Given the description of an element on the screen output the (x, y) to click on. 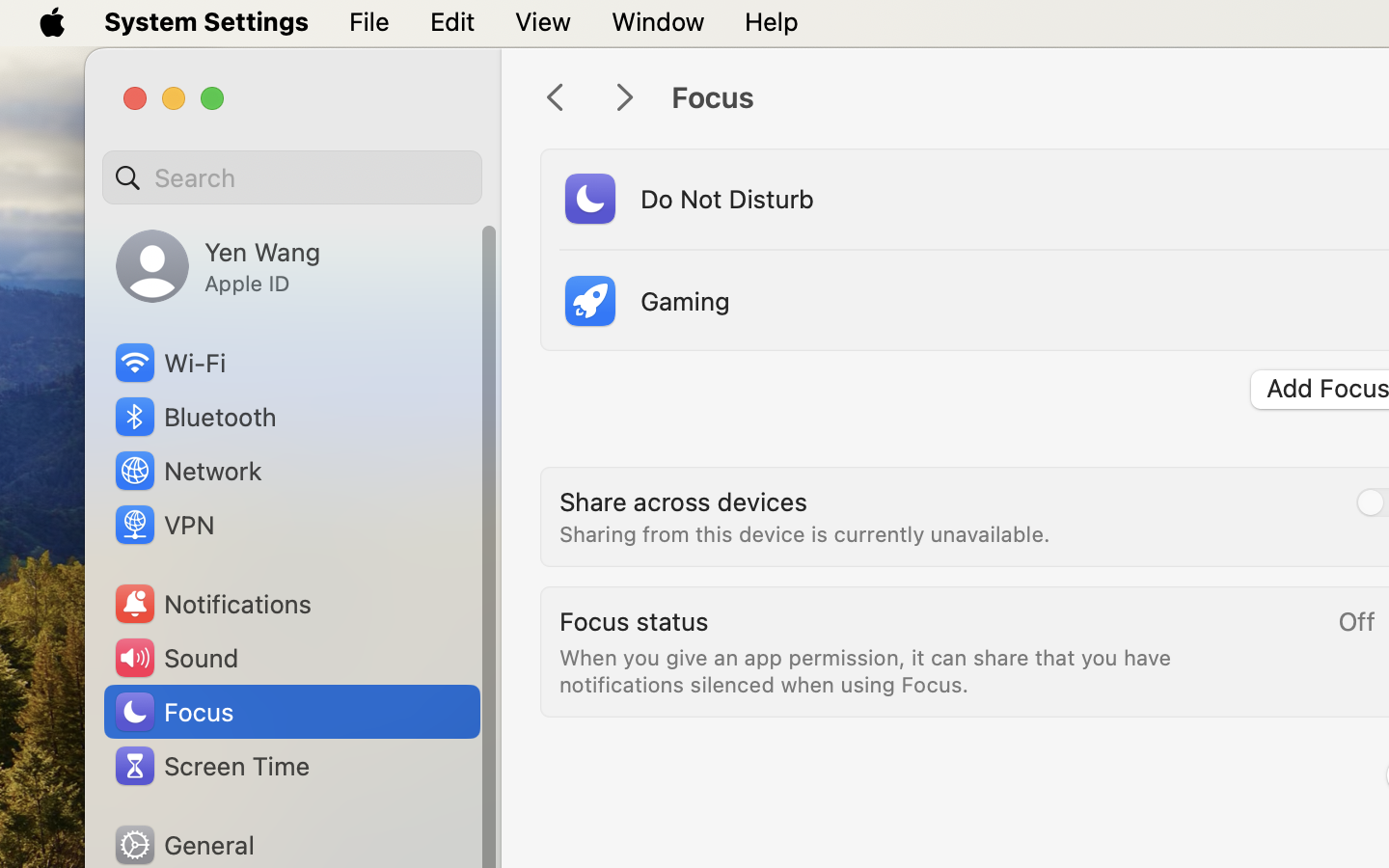
Network Element type: AXStaticText (186, 470)
Sound Element type: AXStaticText (175, 657)
General Element type: AXStaticText (182, 844)
Focus Element type: AXStaticText (172, 711)
Yen Wang, Apple ID Element type: AXStaticText (217, 265)
